Given the description of an element on the screen output the (x, y) to click on. 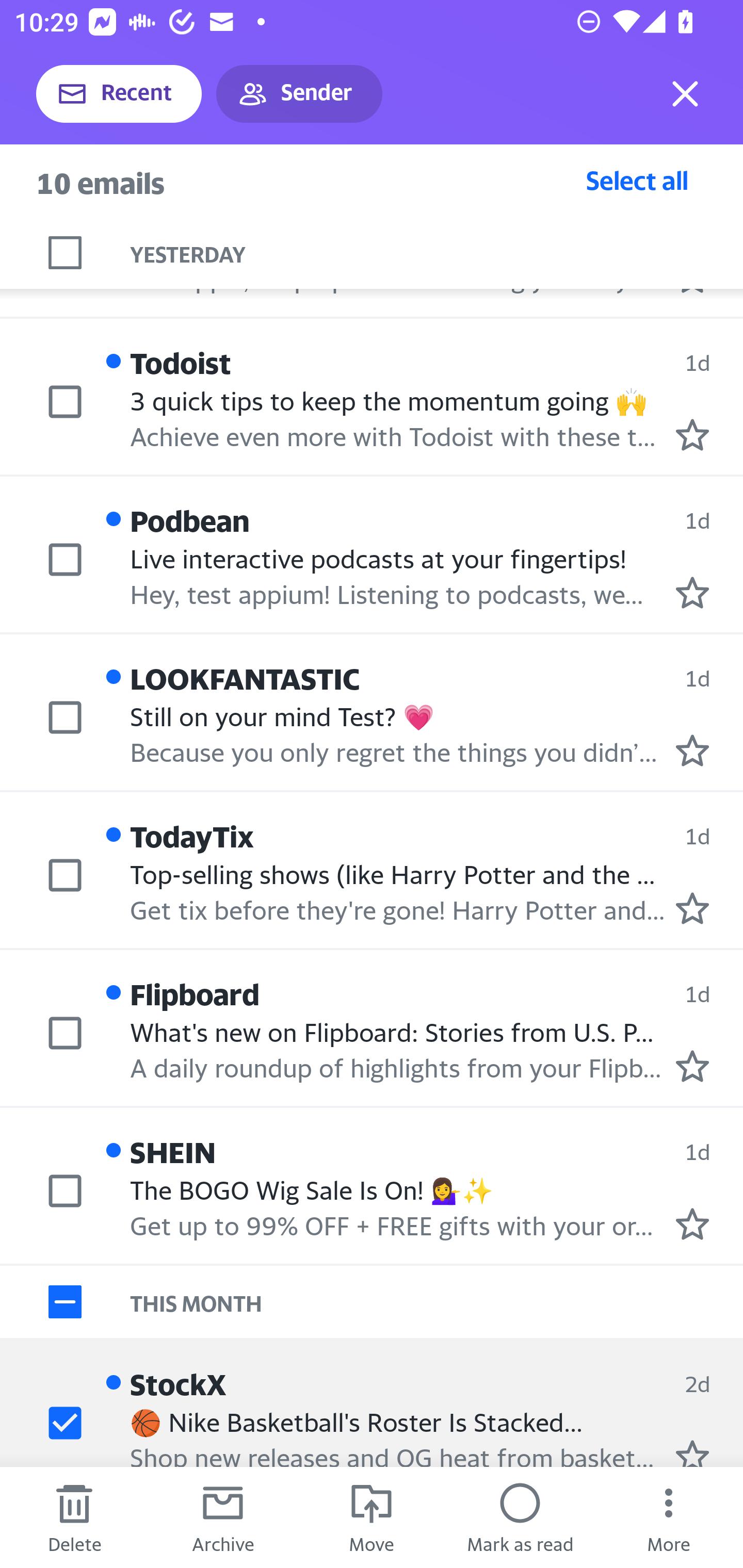
Sender (299, 93)
Exit selection mode (684, 93)
Select all (637, 180)
Mark as starred. (692, 435)
Mark as starred. (692, 591)
Mark as starred. (692, 750)
Mark as starred. (692, 908)
Mark as starred. (692, 1065)
Mark as starred. (692, 1223)
THIS MONTH (436, 1301)
Delete (74, 1517)
Archive (222, 1517)
Move (371, 1517)
Mark as read (519, 1517)
More (668, 1517)
